Given the description of an element on the screen output the (x, y) to click on. 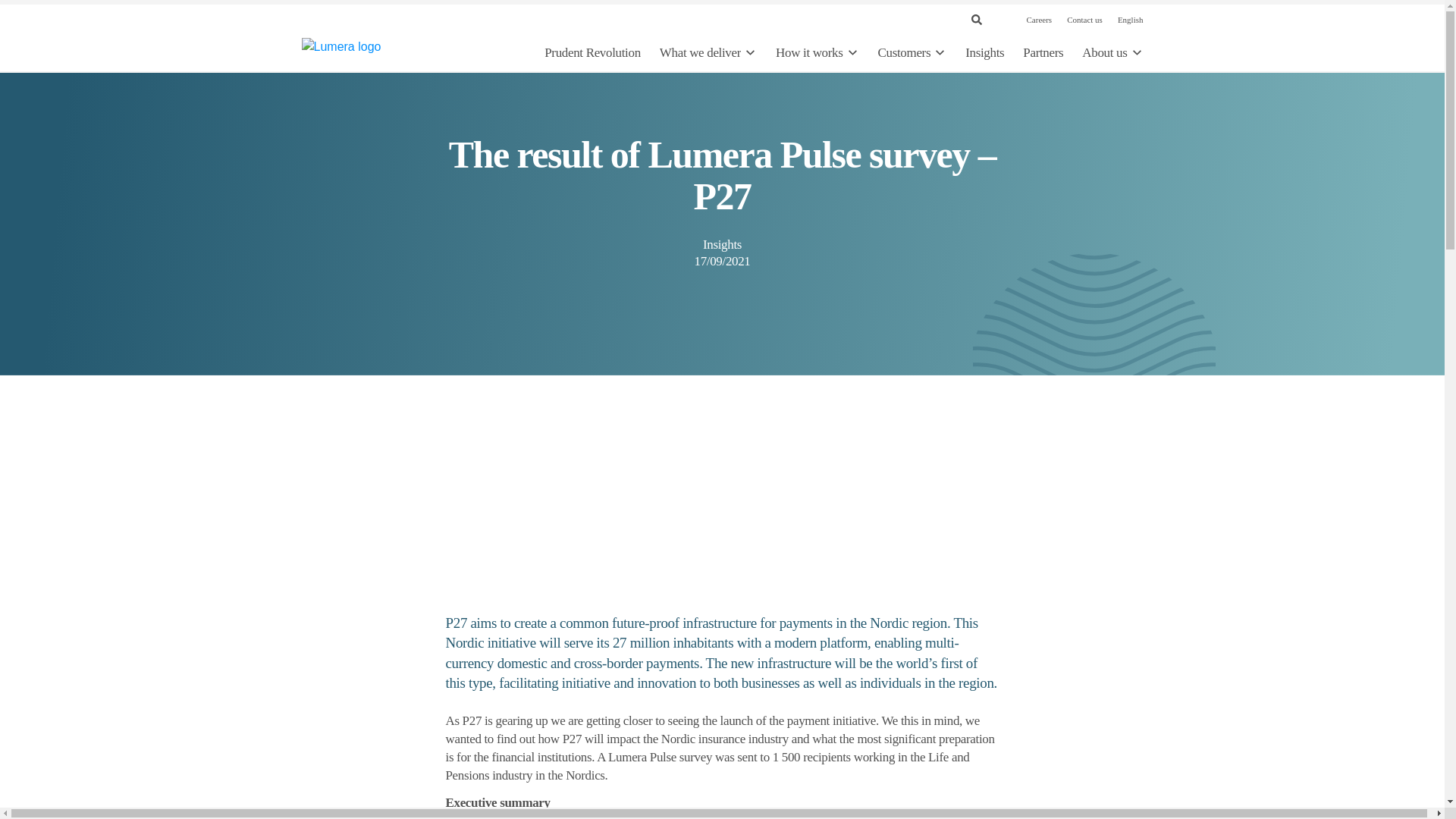
Customers (912, 53)
English (1130, 19)
How it works (817, 53)
English (1130, 19)
Prudent Revolution (592, 53)
Careers (1039, 19)
Contact us (1084, 19)
What we deliver (708, 53)
